Given the description of an element on the screen output the (x, y) to click on. 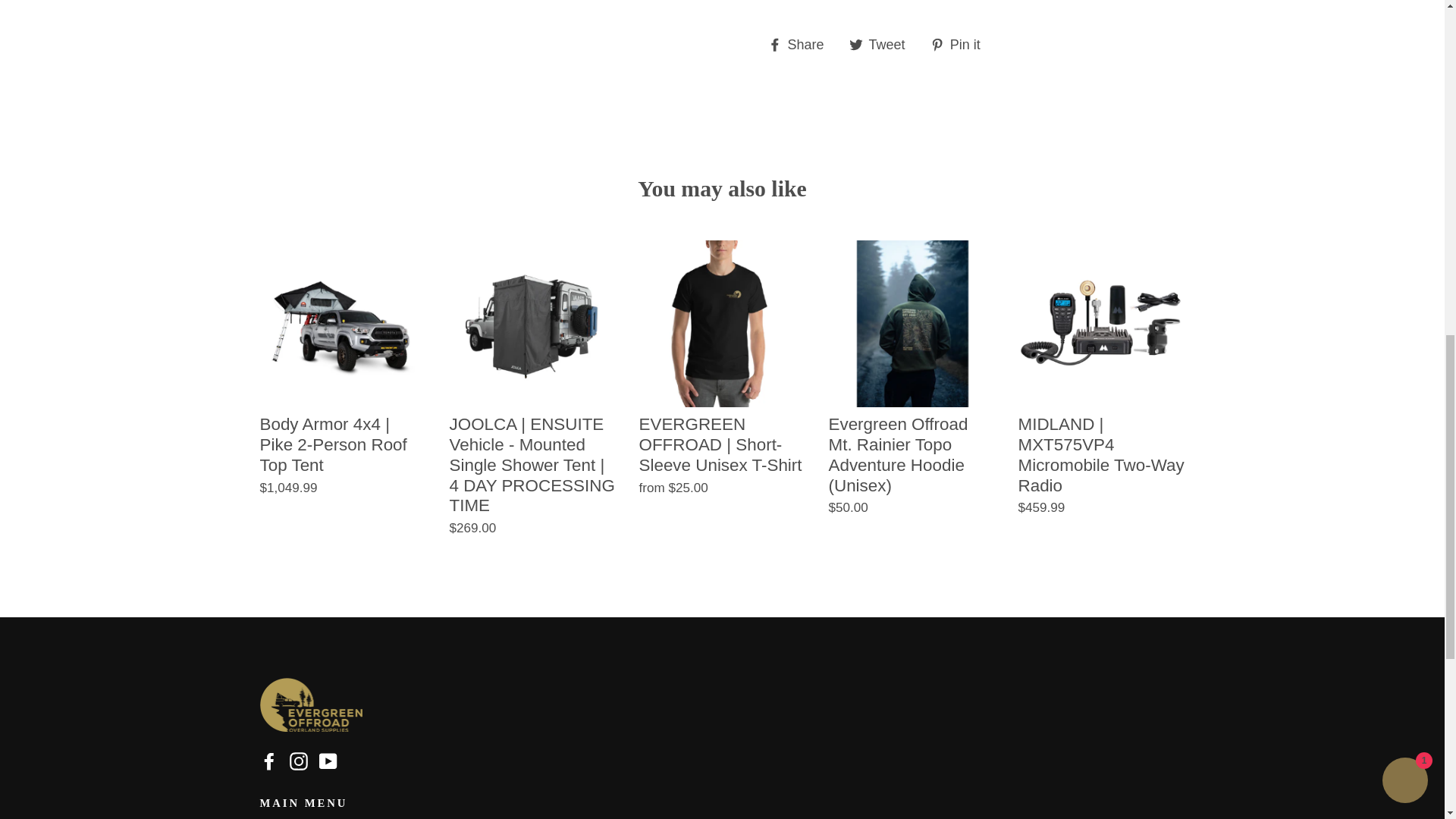
Evergreen Offroad on YouTube (327, 761)
Evergreen Offroad on Facebook (268, 761)
Share on Facebook (800, 45)
Evergreen Offroad on Instagram (298, 761)
Pin on Pinterest (960, 45)
Tweet on Twitter (882, 45)
